Given the description of an element on the screen output the (x, y) to click on. 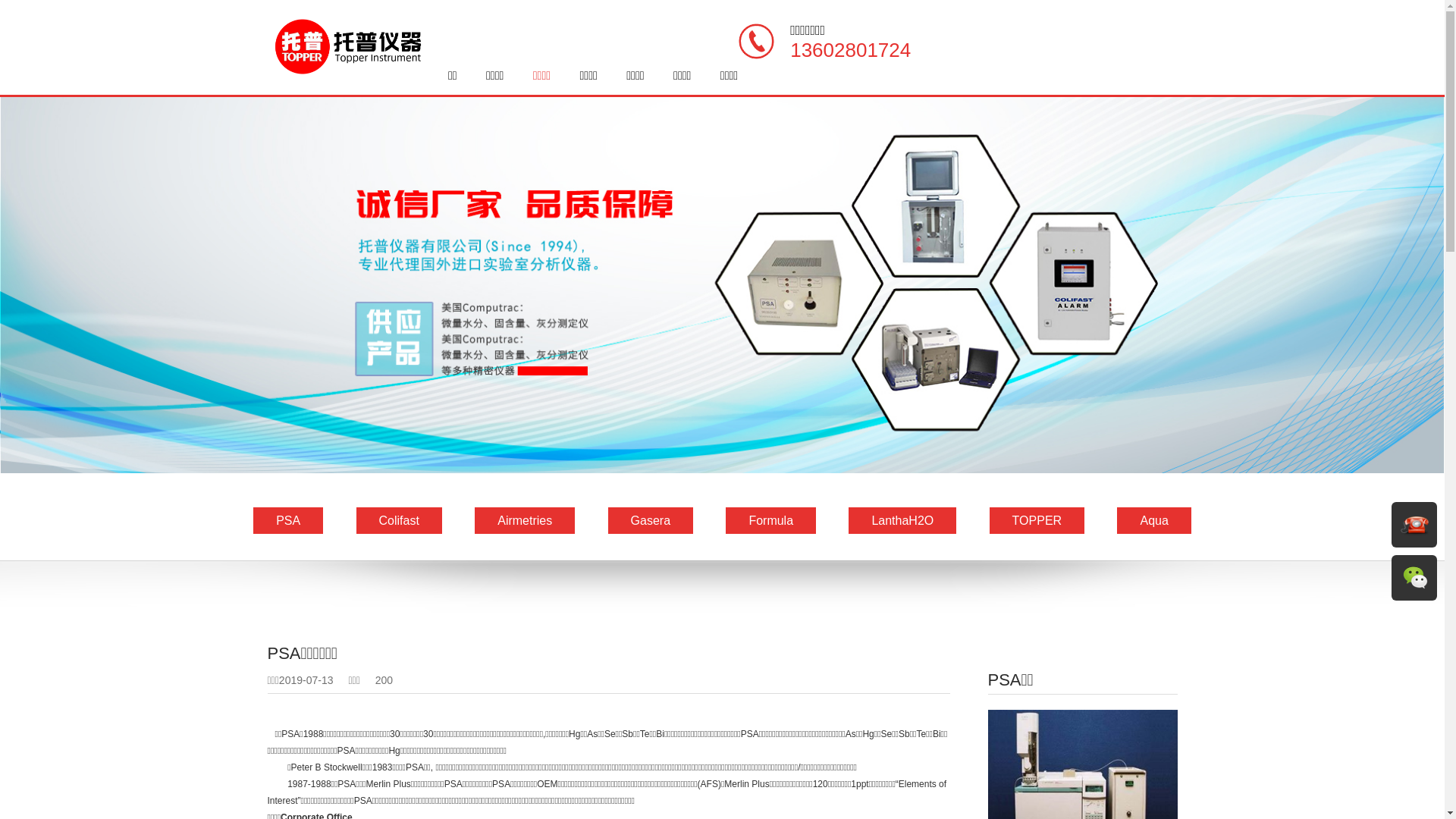
Gasera Element type: text (650, 520)
Aqua Element type: text (1153, 520)
LanthaH2O Element type: text (902, 520)
Formula Element type: text (770, 520)
Colifast Element type: text (399, 520)
TOPPER Element type: text (1037, 520)
PSA Element type: text (288, 520)
Airmetries Element type: text (524, 520)
